Given the description of an element on the screen output the (x, y) to click on. 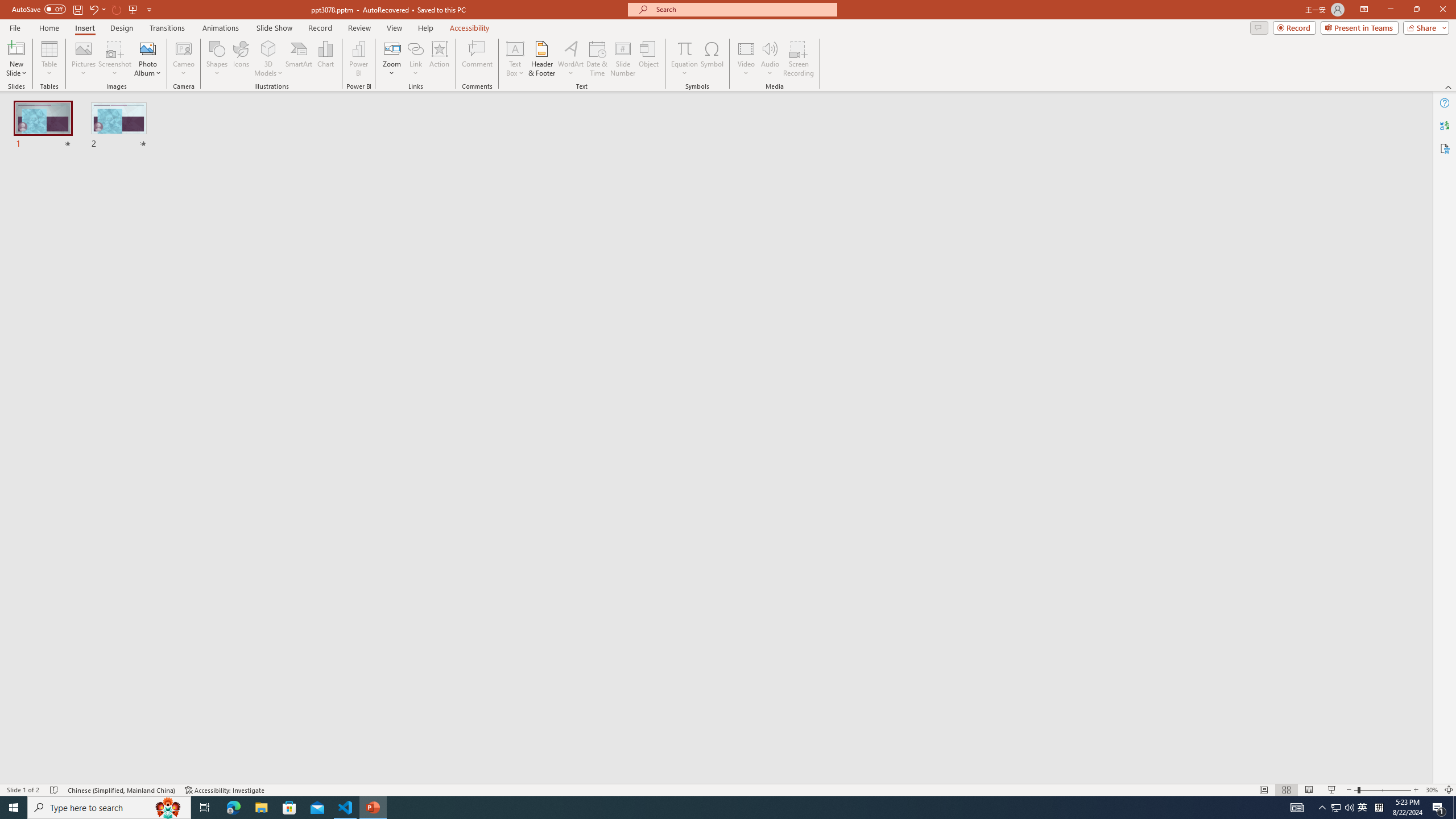
Explorer Section: wangyian (188, 209)
Extensions (Ctrl+Shift+X) (76, 397)
Search (Ctrl+Shift+F) (76, 265)
Class: actions-container (301, 387)
Copilot (Ctrl+Shift+.) (1434, 46)
